Given the description of an element on the screen output the (x, y) to click on. 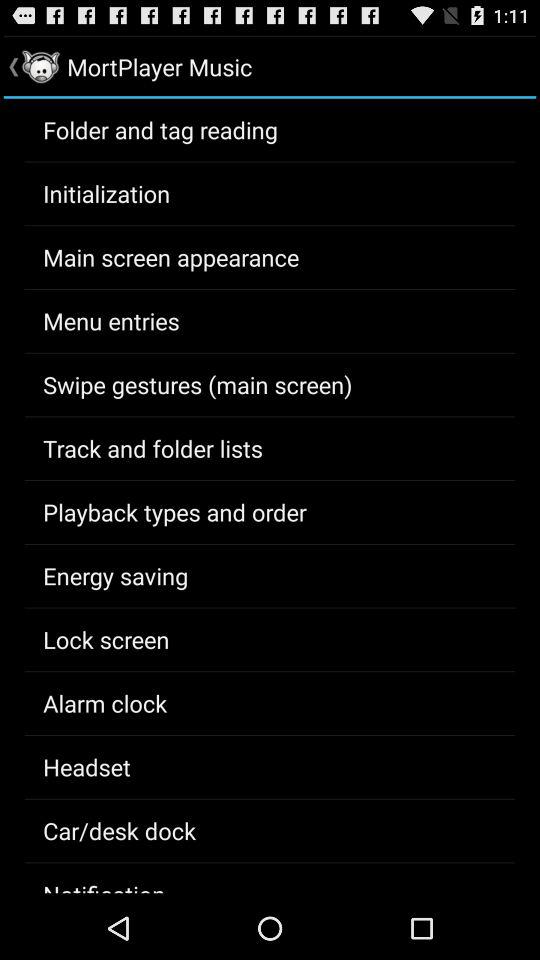
select notification item (104, 885)
